Given the description of an element on the screen output the (x, y) to click on. 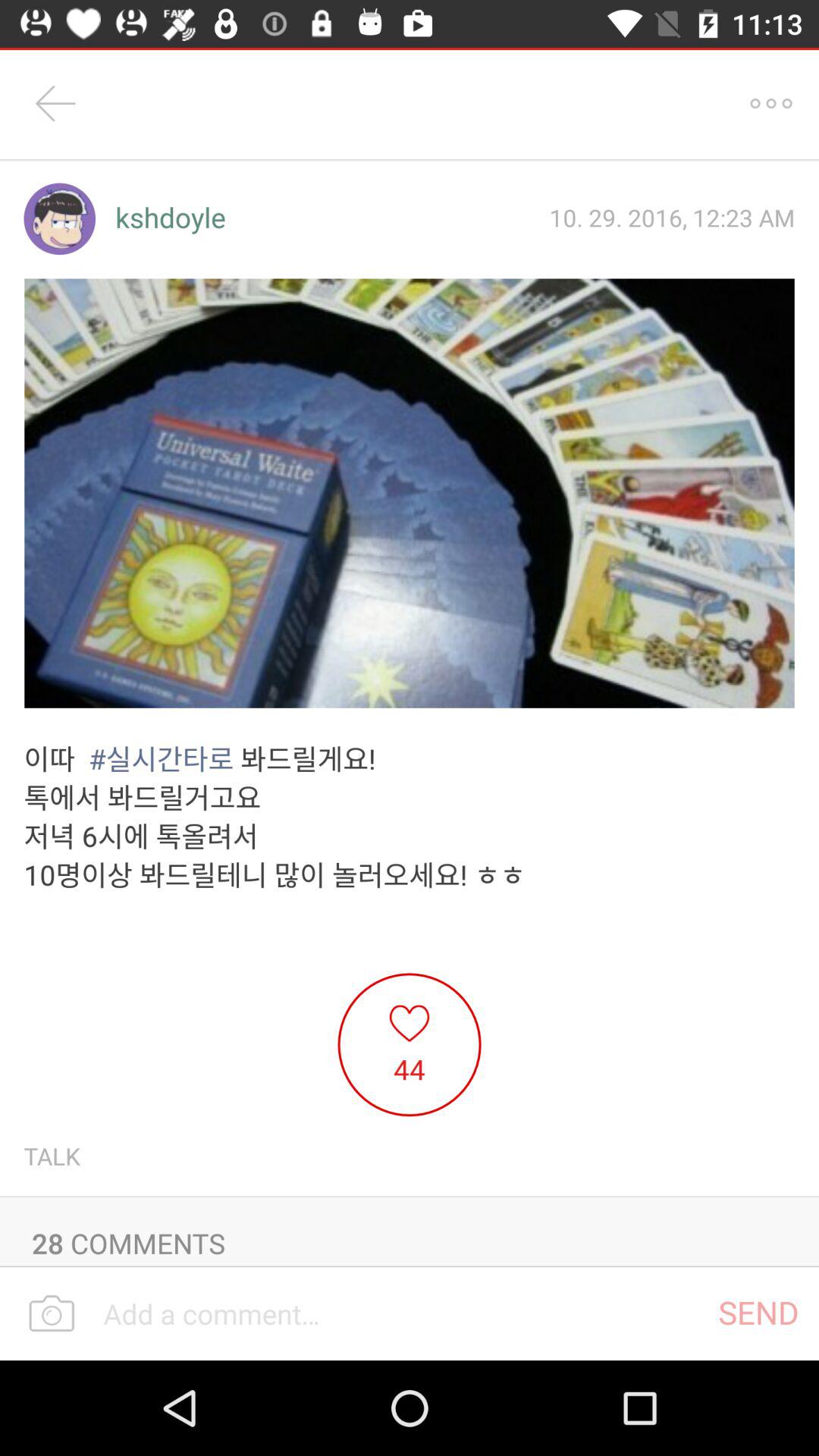
choose icon to the left of the 10 29 2016 item (170, 218)
